Given the description of an element on the screen output the (x, y) to click on. 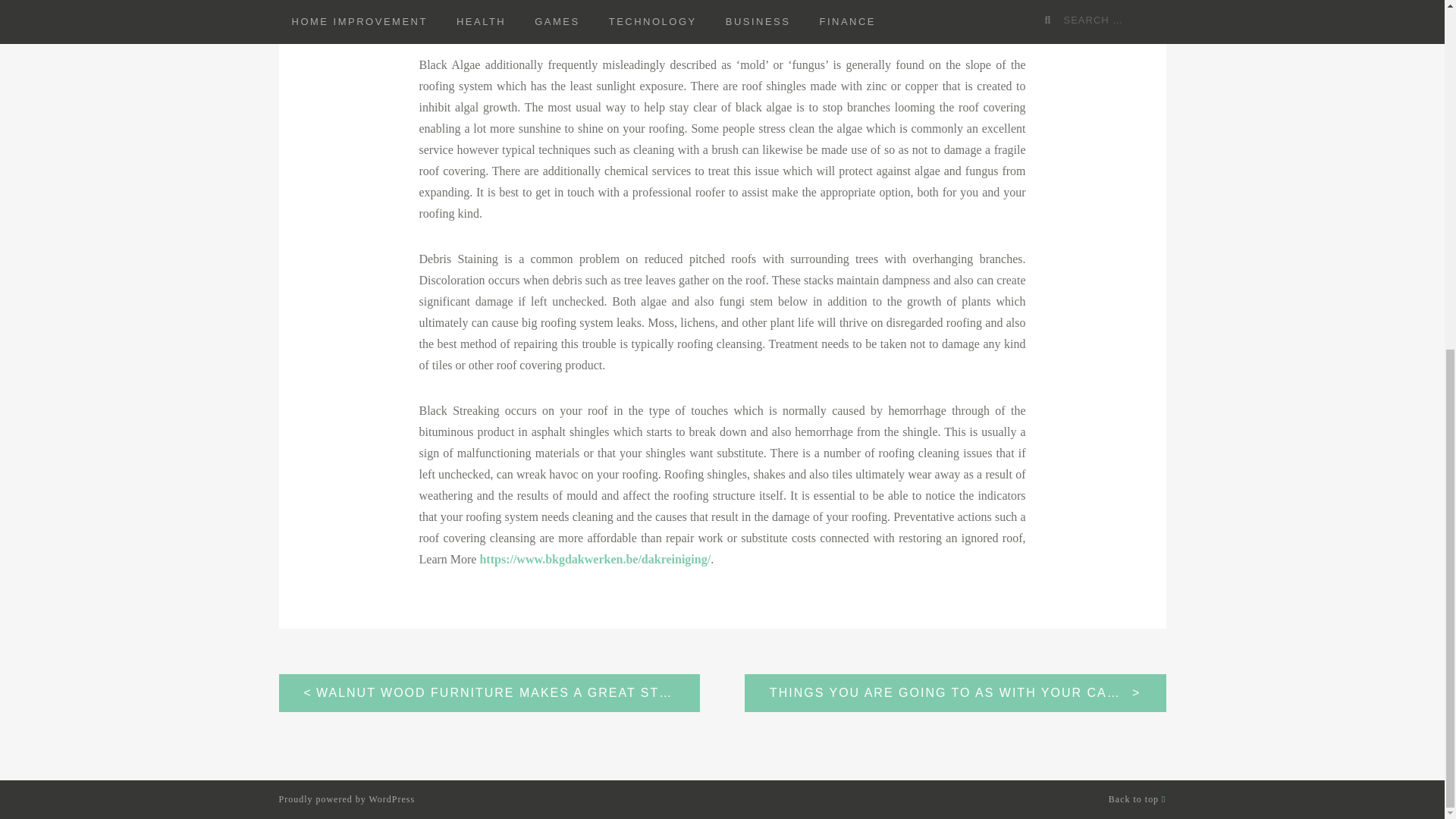
Back to top (1137, 798)
WALNUT WOOD FURNITURE MAKES A GREAT STYLE STATEMENT (489, 692)
THINGS YOU ARE GOING TO AS WITH YOUR CAR RENTAL SERVICES (955, 692)
